Given the description of an element on the screen output the (x, y) to click on. 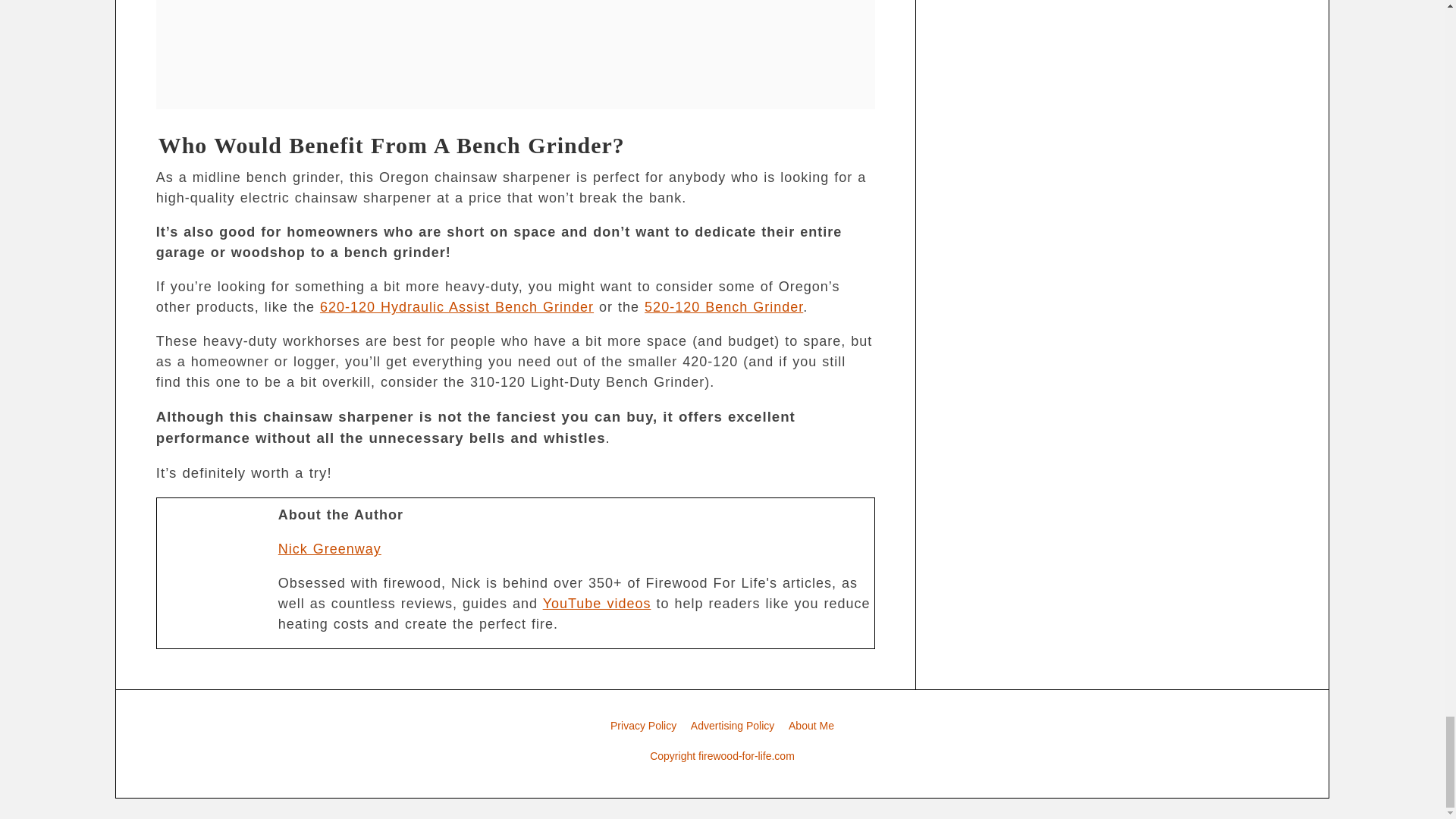
nick-greenway-bio-page (213, 566)
